Given the description of an element on the screen output the (x, y) to click on. 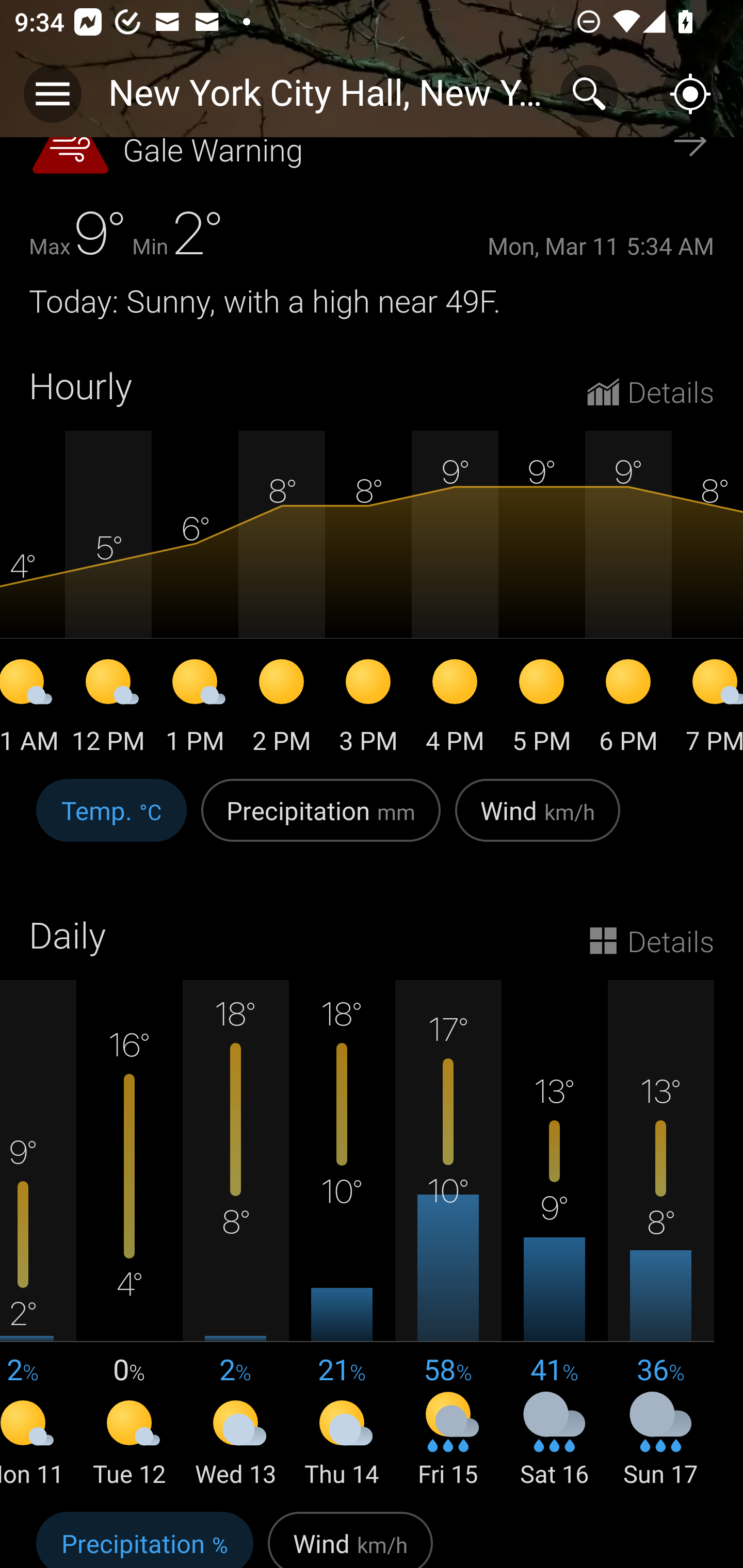
11 AM (32, 709)
12 PM (108, 709)
1 PM (194, 709)
2 PM (281, 709)
3 PM (368, 709)
4 PM (454, 709)
5 PM (541, 709)
6 PM (628, 709)
7 PM (707, 709)
Temp. °C (110, 820)
Precipitation mm (320, 820)
Wind km/h (537, 820)
9° 2° 2 % Mon 11 (38, 1234)
16° 4° 0 % Tue 12 (129, 1234)
18° 8° 2 % Wed 13 (235, 1234)
18° 10° 21 % Thu 14 (342, 1234)
17° 10° 58 % Fri 15 (448, 1234)
13° 9° 41 % Sat 16 (554, 1234)
13° 8° 36 % Sun 17 (660, 1234)
Precipitation % (144, 1536)
Wind km/h (349, 1536)
